Given the description of an element on the screen output the (x, y) to click on. 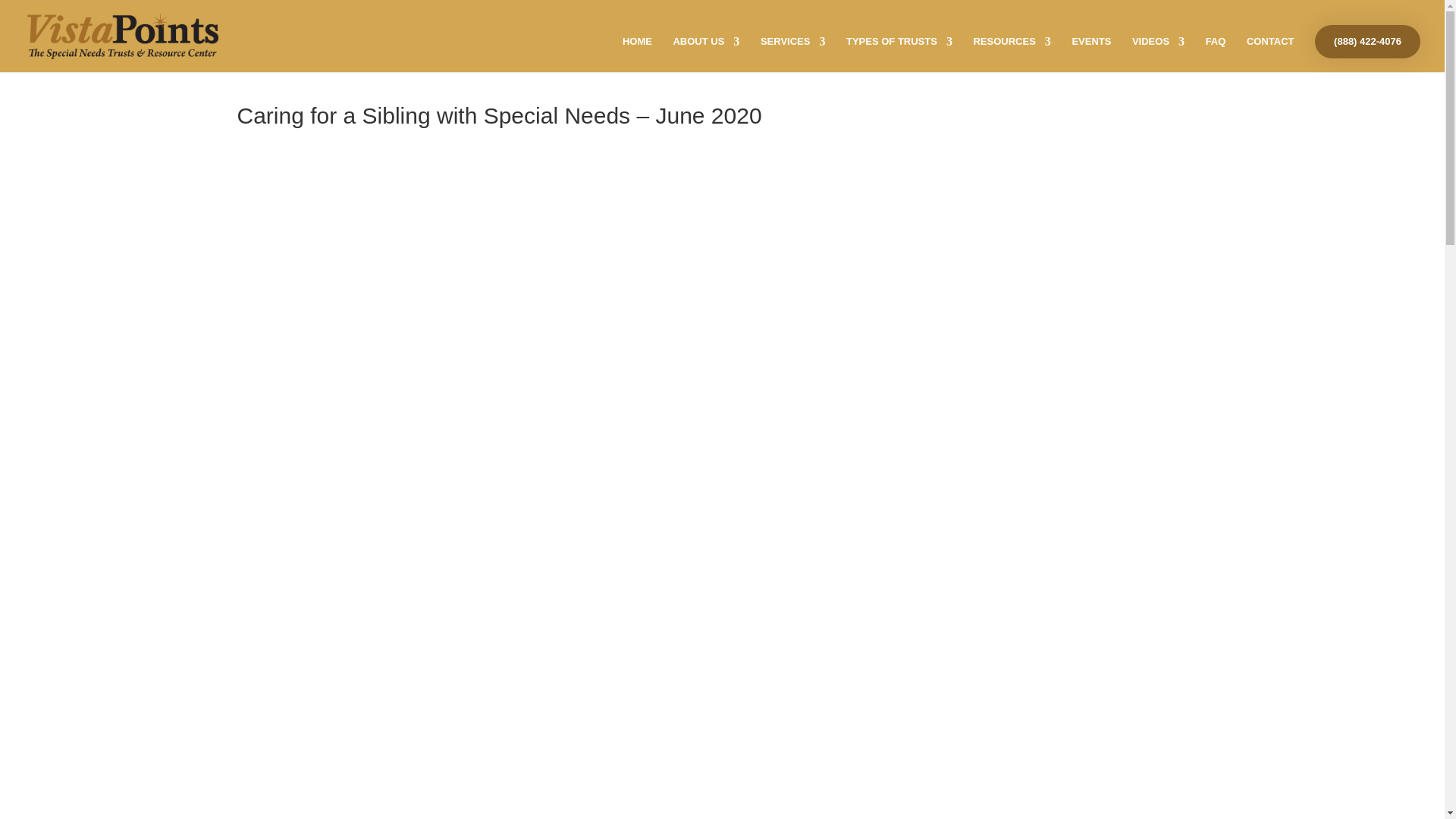
SERVICES (792, 54)
EVENTS (1090, 54)
RESOURCES (1010, 54)
ABOUT US (705, 54)
VIDEOS (1158, 54)
TYPES OF TRUSTS (898, 54)
CONTACT (1270, 54)
